Given the description of an element on the screen output the (x, y) to click on. 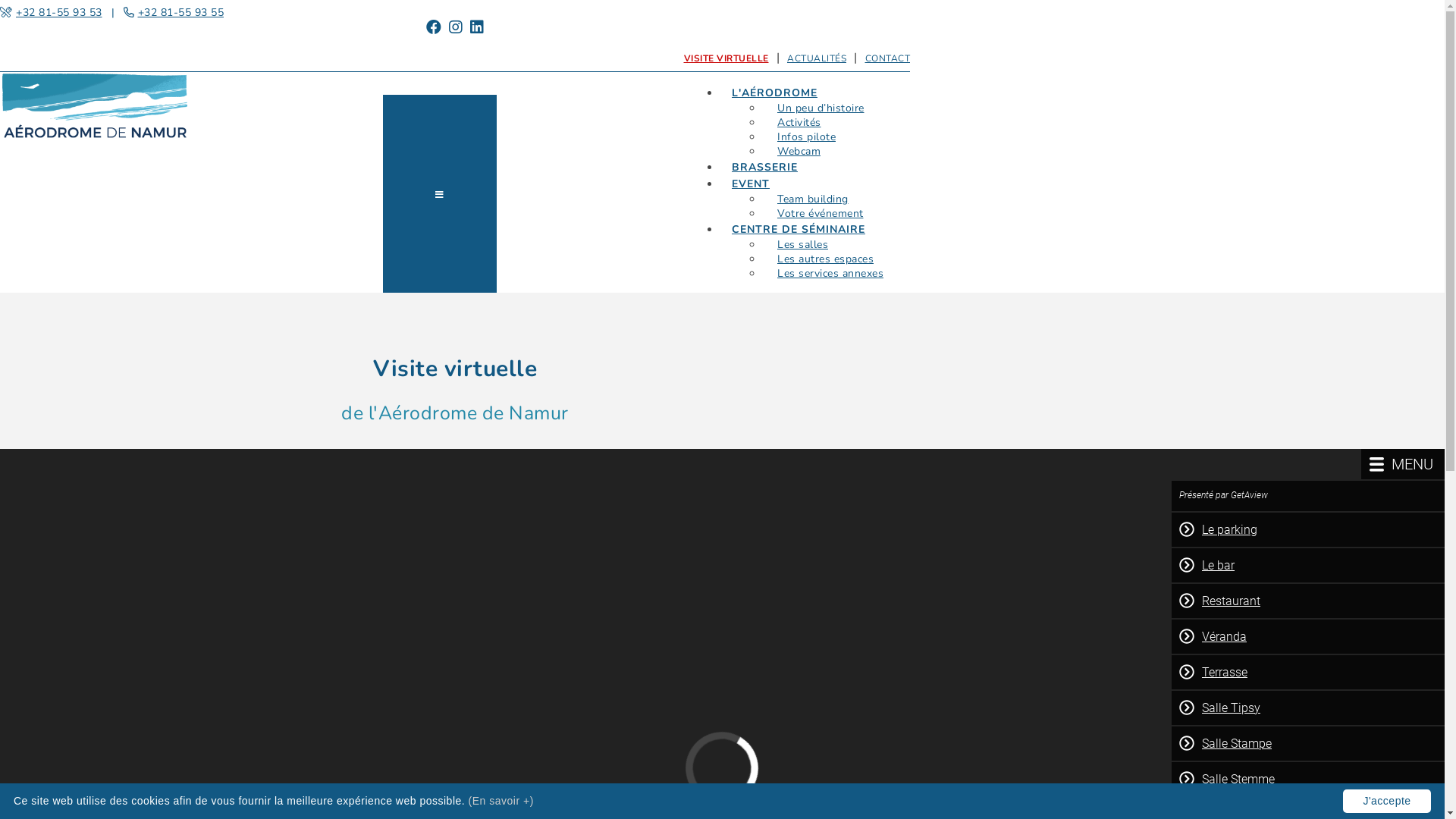
Team building Element type: text (812, 198)
(En savoir +) Element type: text (500, 800)
Infos pilote Element type: text (806, 136)
CONTACT Element type: text (887, 58)
Les autres espaces Element type: text (825, 258)
BRASSERIE Element type: text (764, 167)
+32 81-55 93 55 Element type: text (181, 12)
Les services annexes Element type: text (830, 273)
Webcam Element type: text (798, 151)
VISITE VIRTUELLE Element type: text (726, 58)
EVENT Element type: text (750, 183)
+32 81-55 93 53 Element type: text (58, 12)
Les salles Element type: text (802, 244)
